Given the description of an element on the screen output the (x, y) to click on. 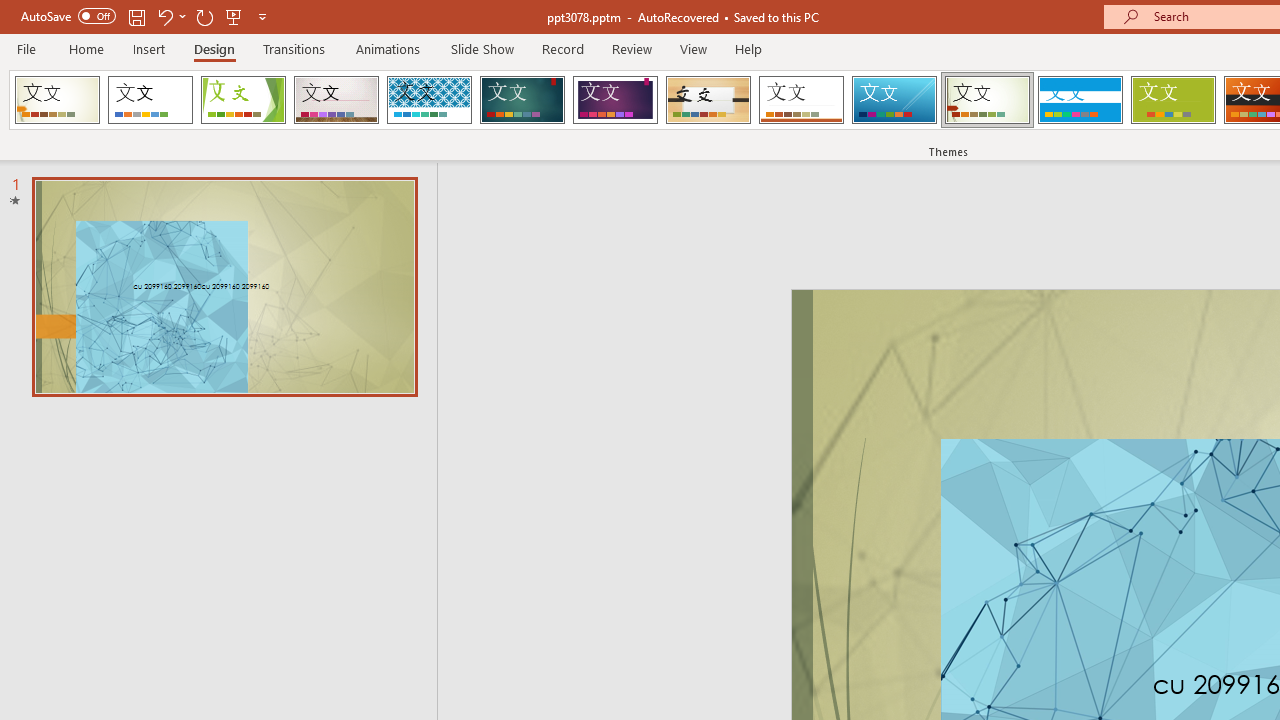
Office Theme (150, 100)
Organic Loading Preview... (708, 100)
Wisp Loading Preview... (987, 100)
